Given the description of an element on the screen output the (x, y) to click on. 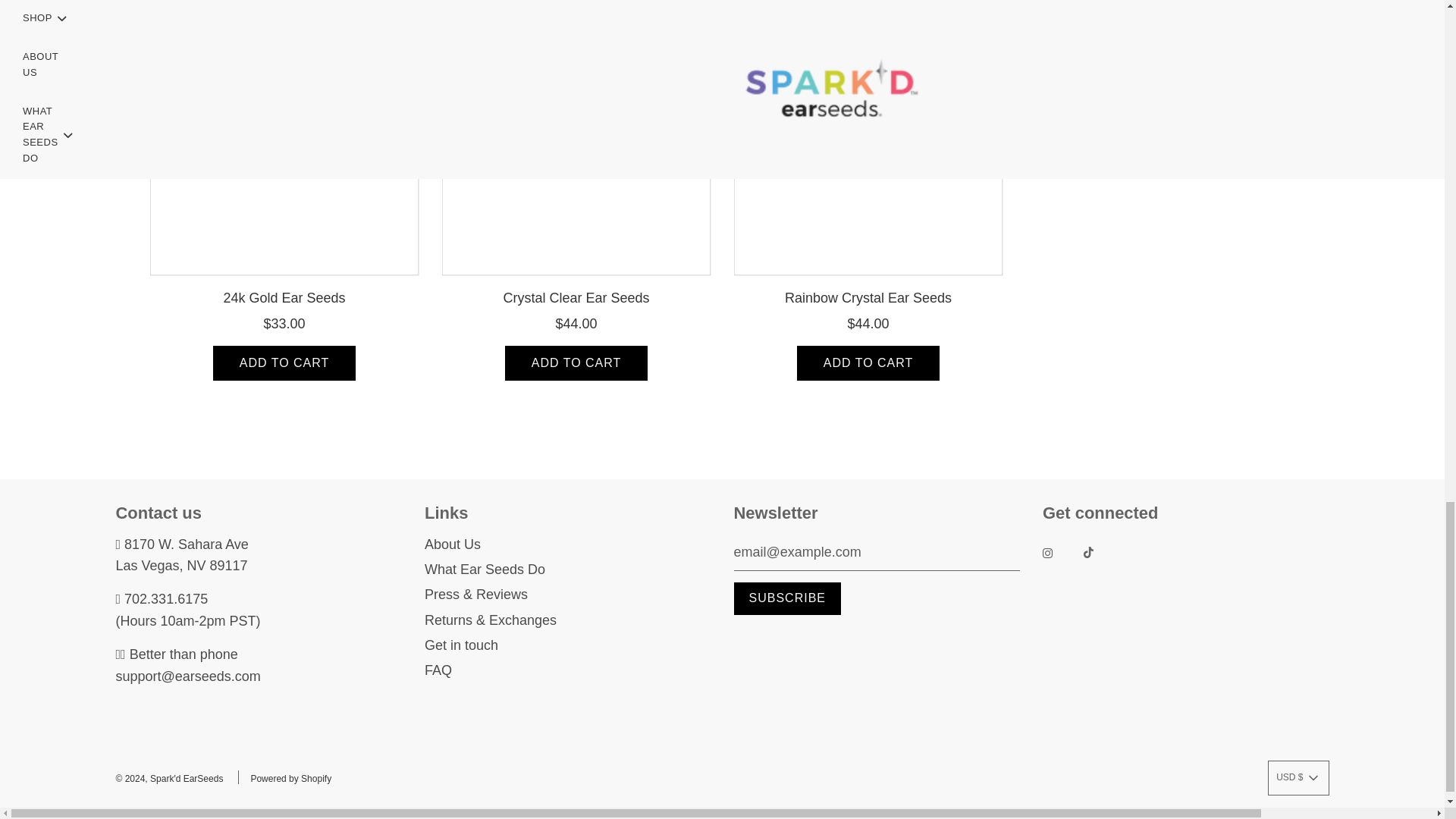
24k Gold Ear Seeds (284, 141)
Rainbow Crystal Ear Seeds (868, 141)
Subscribe (787, 598)
Crystal Clear Ear Seeds (575, 141)
